Given the description of an element on the screen output the (x, y) to click on. 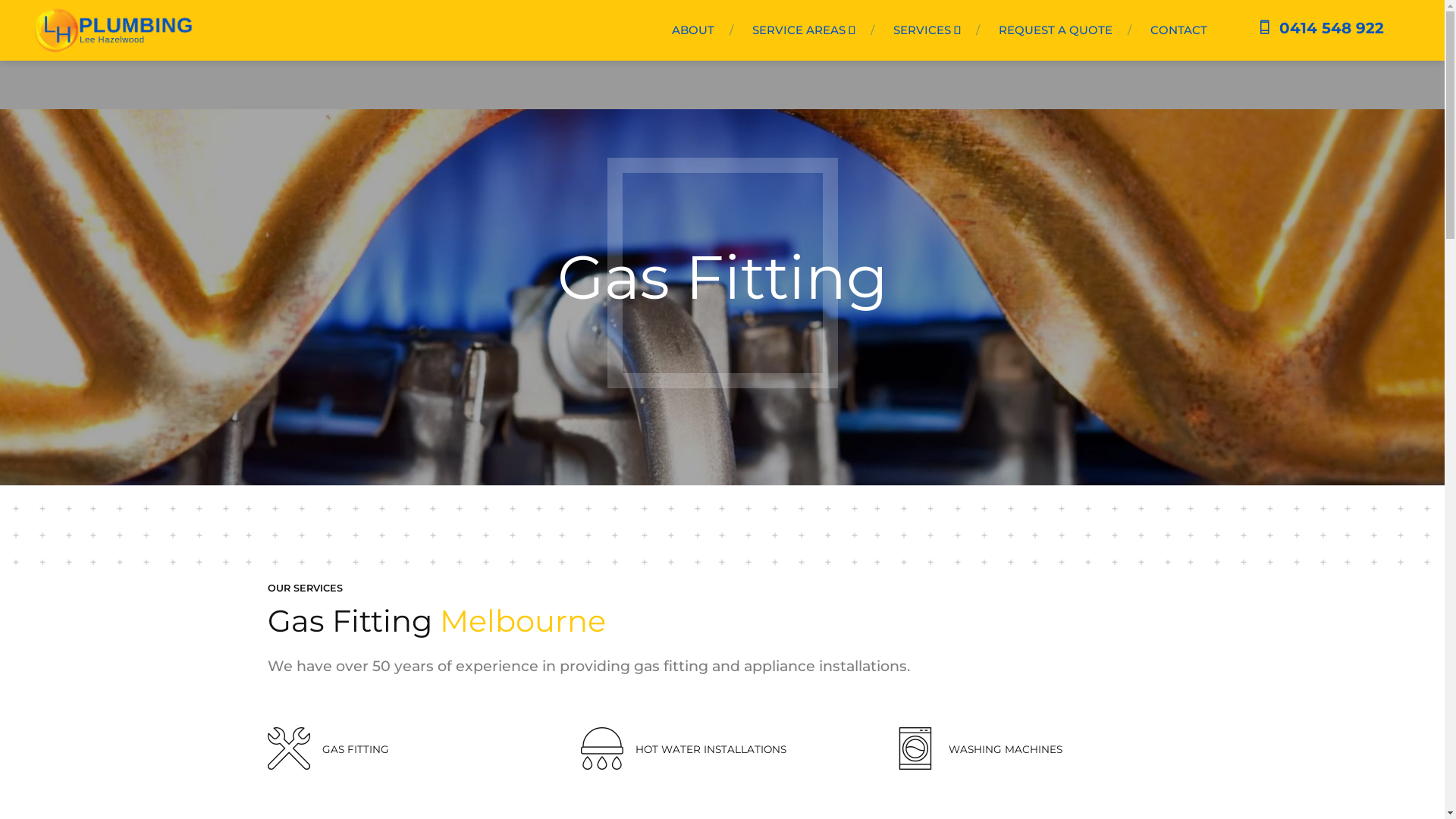
ABOUT Element type: text (692, 26)
REQUEST A QUOTE Element type: text (1055, 26)
CONTACT Element type: text (1178, 26)
